Given the description of an element on the screen output the (x, y) to click on. 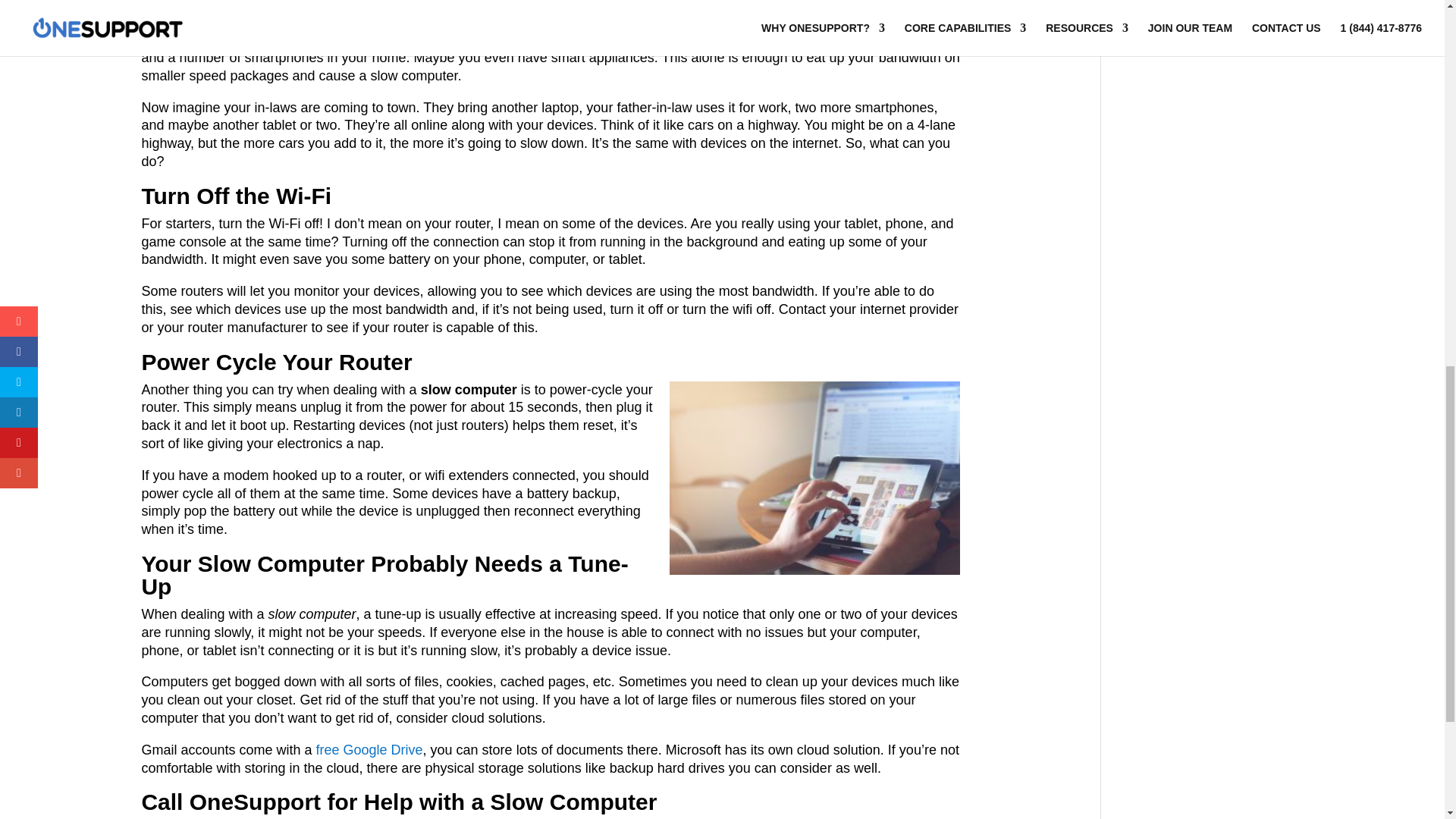
free Google Drive (368, 749)
